Given the description of an element on the screen output the (x, y) to click on. 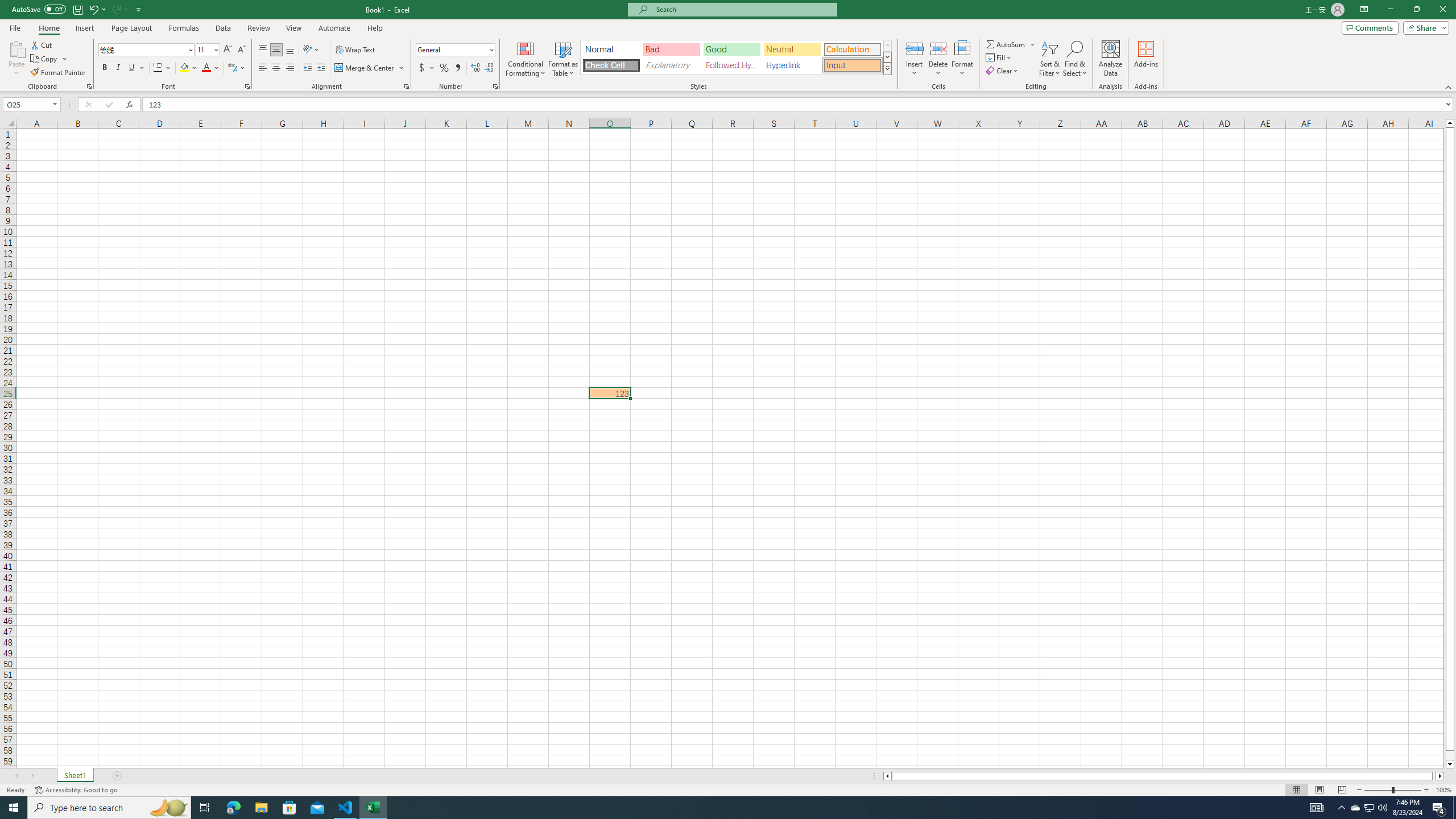
Align Left (262, 67)
Followed Hyperlink (731, 65)
Office Clipboard... (88, 85)
Format Cell Font (247, 85)
Orientation (311, 49)
Bold (104, 67)
Bottom Border (157, 67)
